Given the description of an element on the screen output the (x, y) to click on. 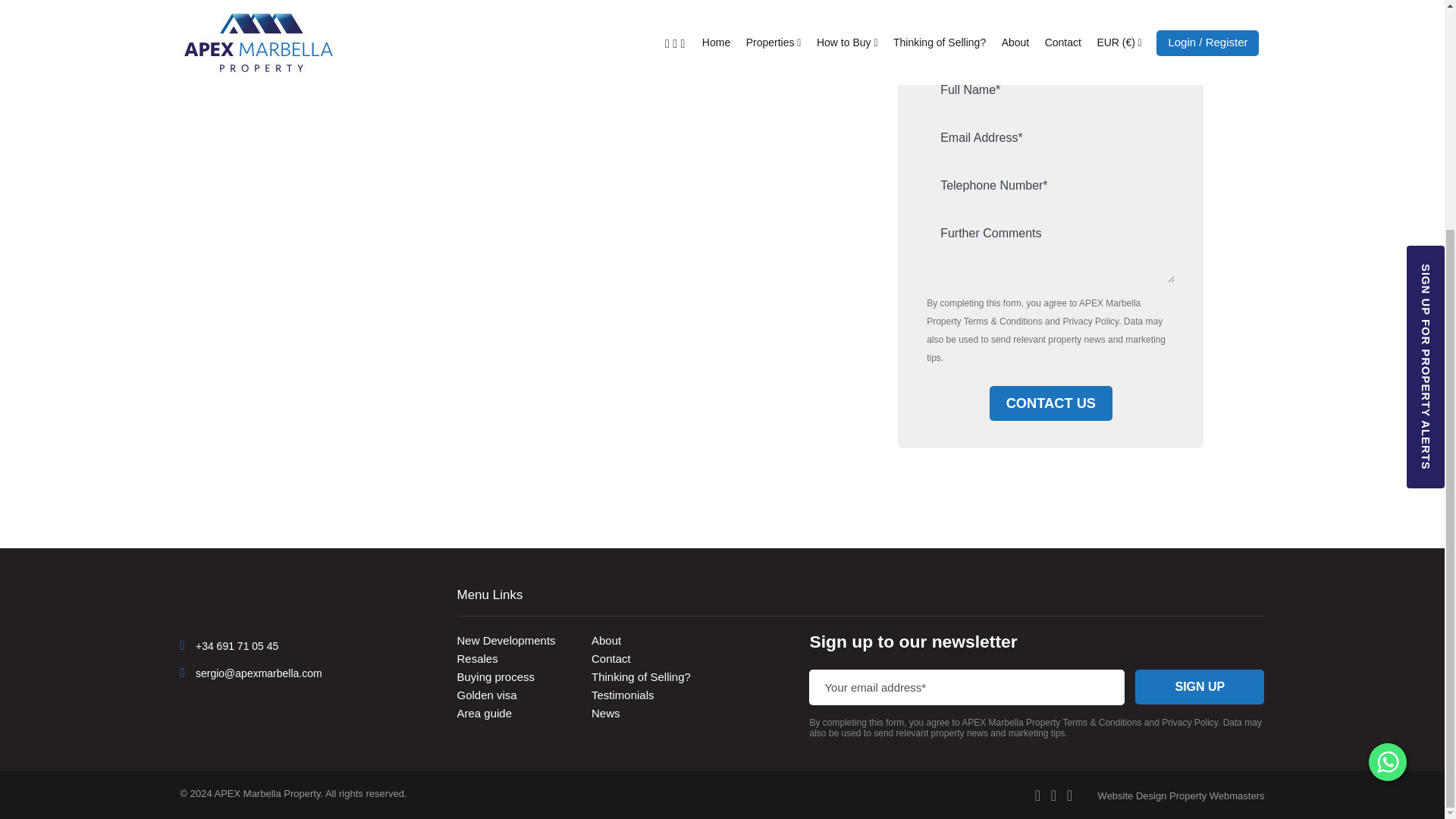
Privacy Policy (1090, 321)
Property Webmasters (1132, 795)
CONTACT US (1051, 402)
